Given the description of an element on the screen output the (x, y) to click on. 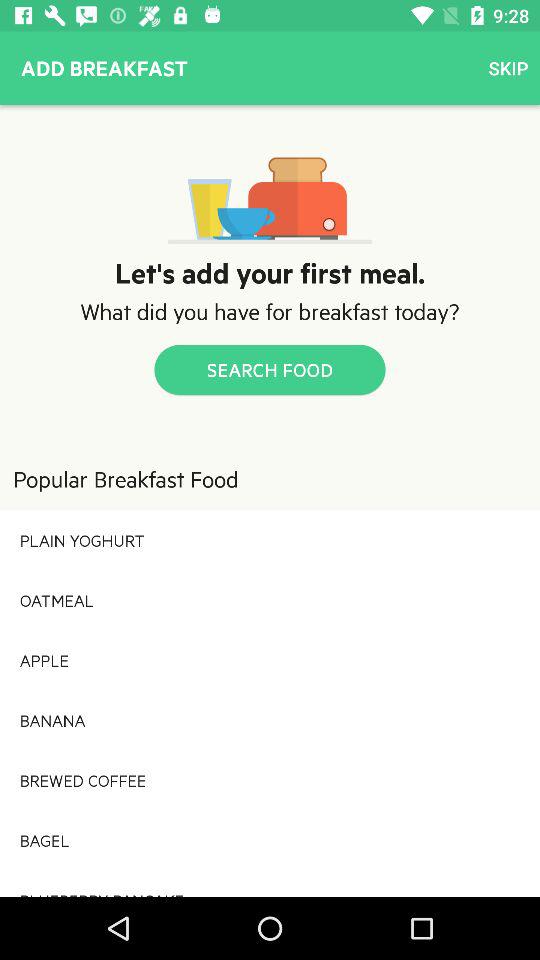
press icon above the let s add item (508, 67)
